Given the description of an element on the screen output the (x, y) to click on. 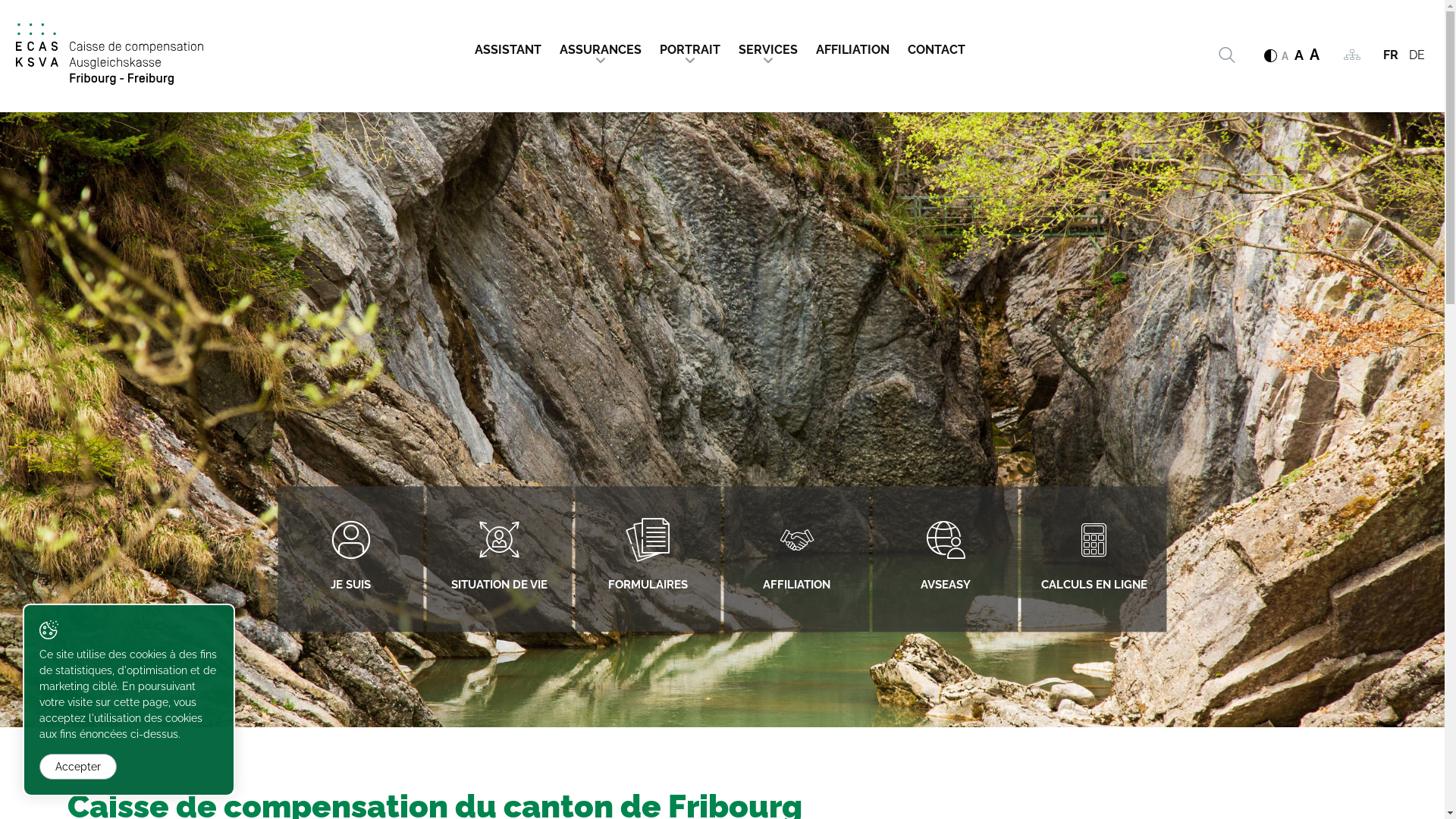
AFFILIATION Element type: text (796, 559)
SITUATION DE VIE Element type: text (498, 559)
PORTRAIT Element type: text (690, 45)
FORMULAIRES Element type: text (647, 559)
ASSISTANT Element type: text (511, 45)
JE SUIS Element type: text (350, 559)
ASSURANCES Element type: text (600, 45)
A Element type: text (1314, 54)
CALCULS EN LIGNE Element type: text (1093, 559)
DE Element type: text (1416, 54)
A Element type: text (1298, 55)
Accepter Element type: text (77, 766)
AFFILIATION Element type: text (852, 45)
AVSEASY Element type: text (944, 559)
SERVICES Element type: text (768, 45)
FR Element type: text (1390, 54)
Rechercher Element type: text (1225, 55)
Caisse de compensation du canton de Fribourg Element type: hover (109, 53)
CONTACT Element type: text (935, 45)
A Element type: text (1284, 55)
